Given the description of an element on the screen output the (x, y) to click on. 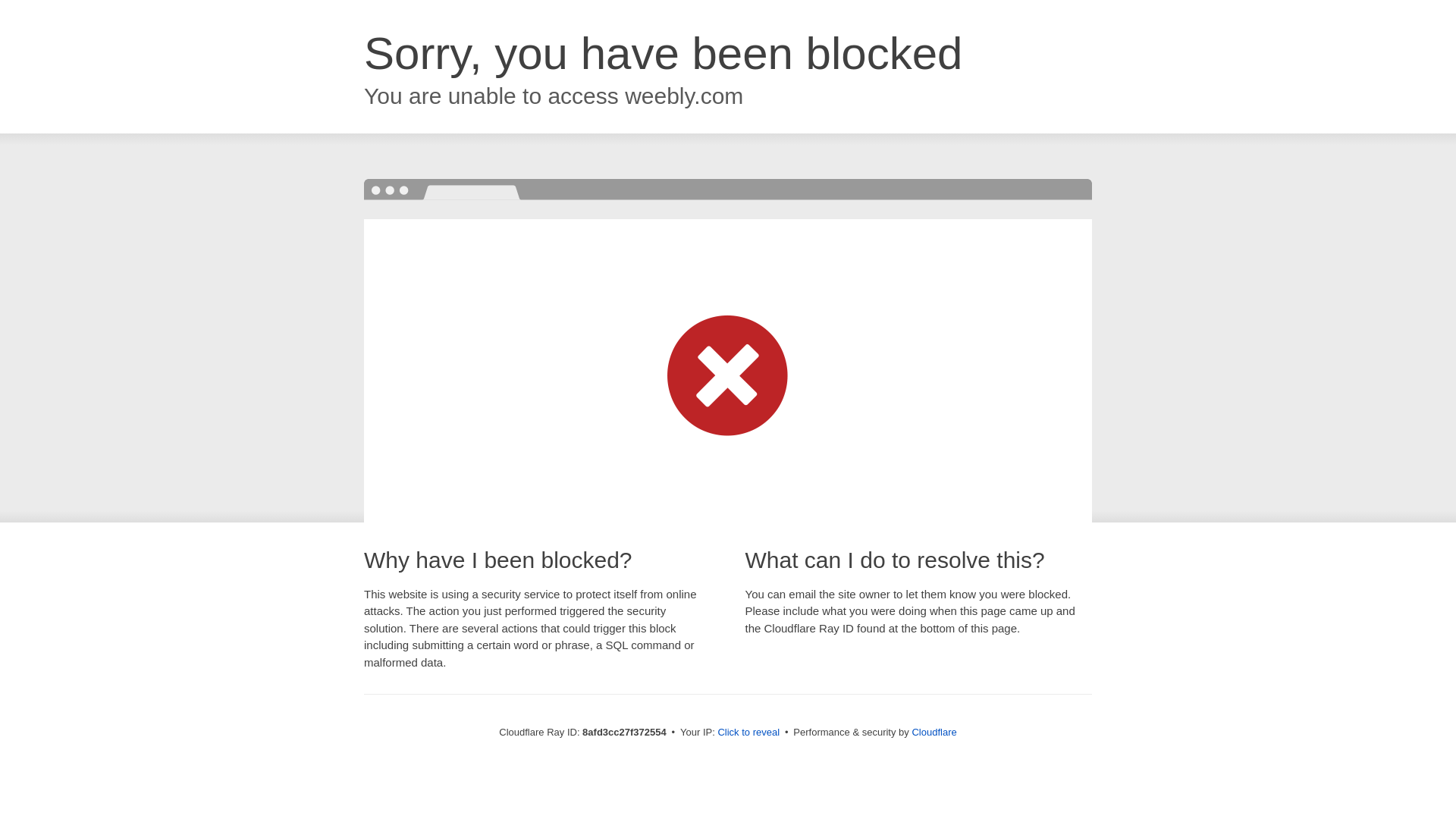
Click to reveal (747, 732)
Cloudflare (933, 731)
